Given the description of an element on the screen output the (x, y) to click on. 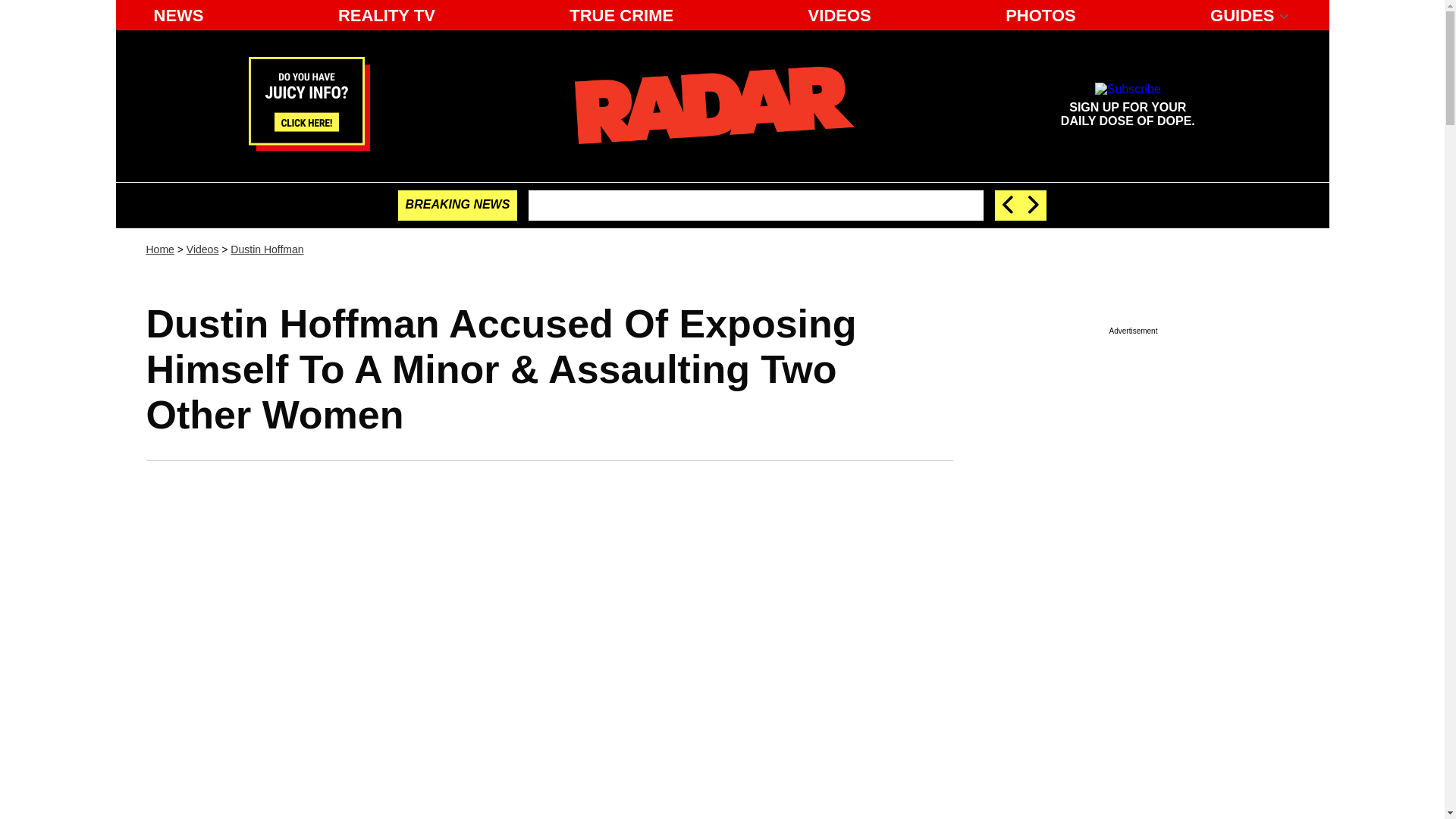
Videos (202, 249)
Dustin Hoffman (266, 249)
VIDEOS (839, 15)
NEWS (178, 15)
Email us your tip (308, 146)
Sign up for your daily dose of dope. (1127, 104)
Radar Online (714, 105)
REALITY TV (1127, 104)
Home (386, 15)
